Given the description of an element on the screen output the (x, y) to click on. 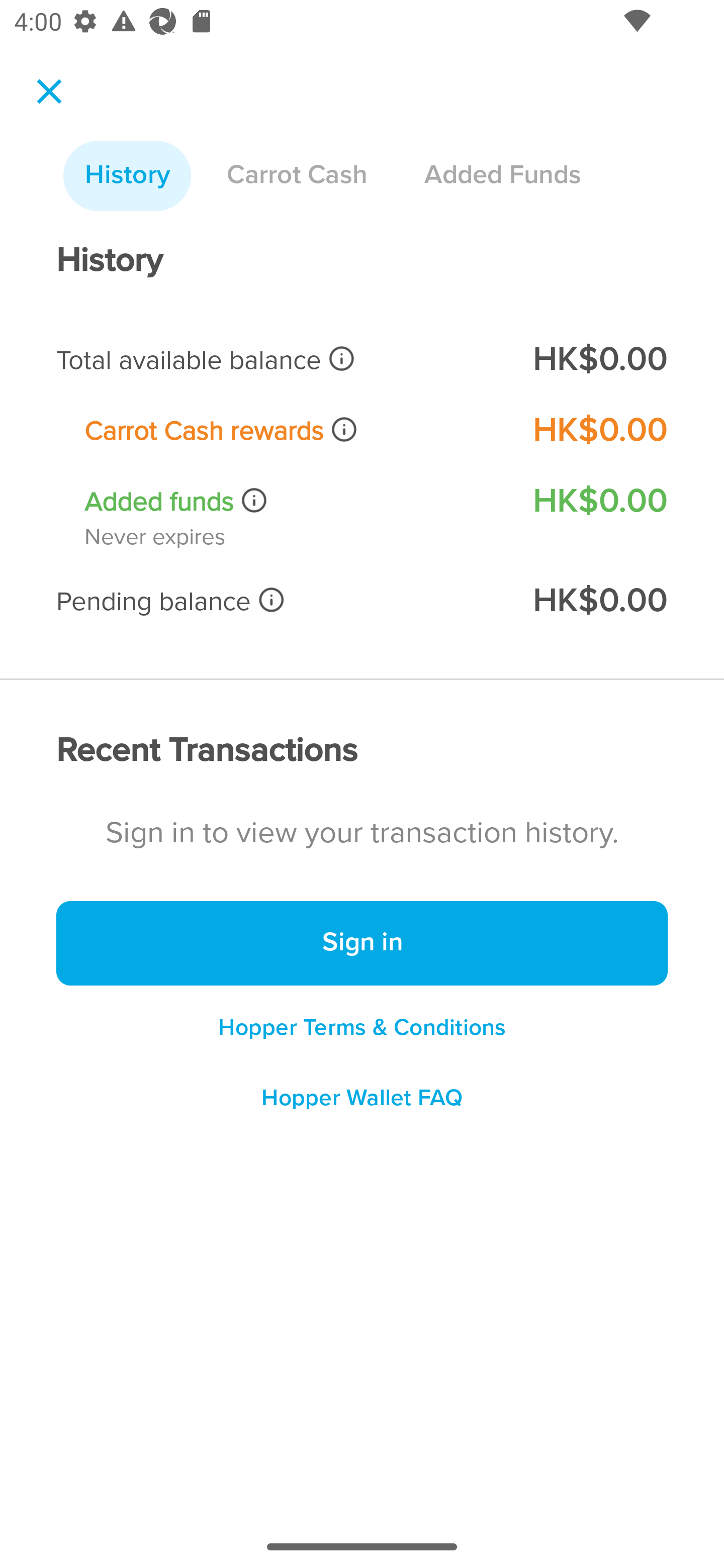
Navigate up (49, 91)
‍History (127, 176)
‍Carrot Cash (296, 176)
‍Added Funds (502, 176)
‍HK$0.00 (599, 359)
‍Total available balance ​ (280, 359)
‍HK$0.00 (599, 430)
‍Carrot Cash rewards ​ (294, 430)
‍HK$0.00 (599, 500)
‍Added funds ​ (294, 501)
‍HK$0.00 (599, 601)
‍Pending balance ​ (280, 601)
‍Sign in (361, 943)
‍Hopper Terms & Conditions (361, 1027)
‍Hopper Wallet FAQ (361, 1104)
